Given the description of an element on the screen output the (x, y) to click on. 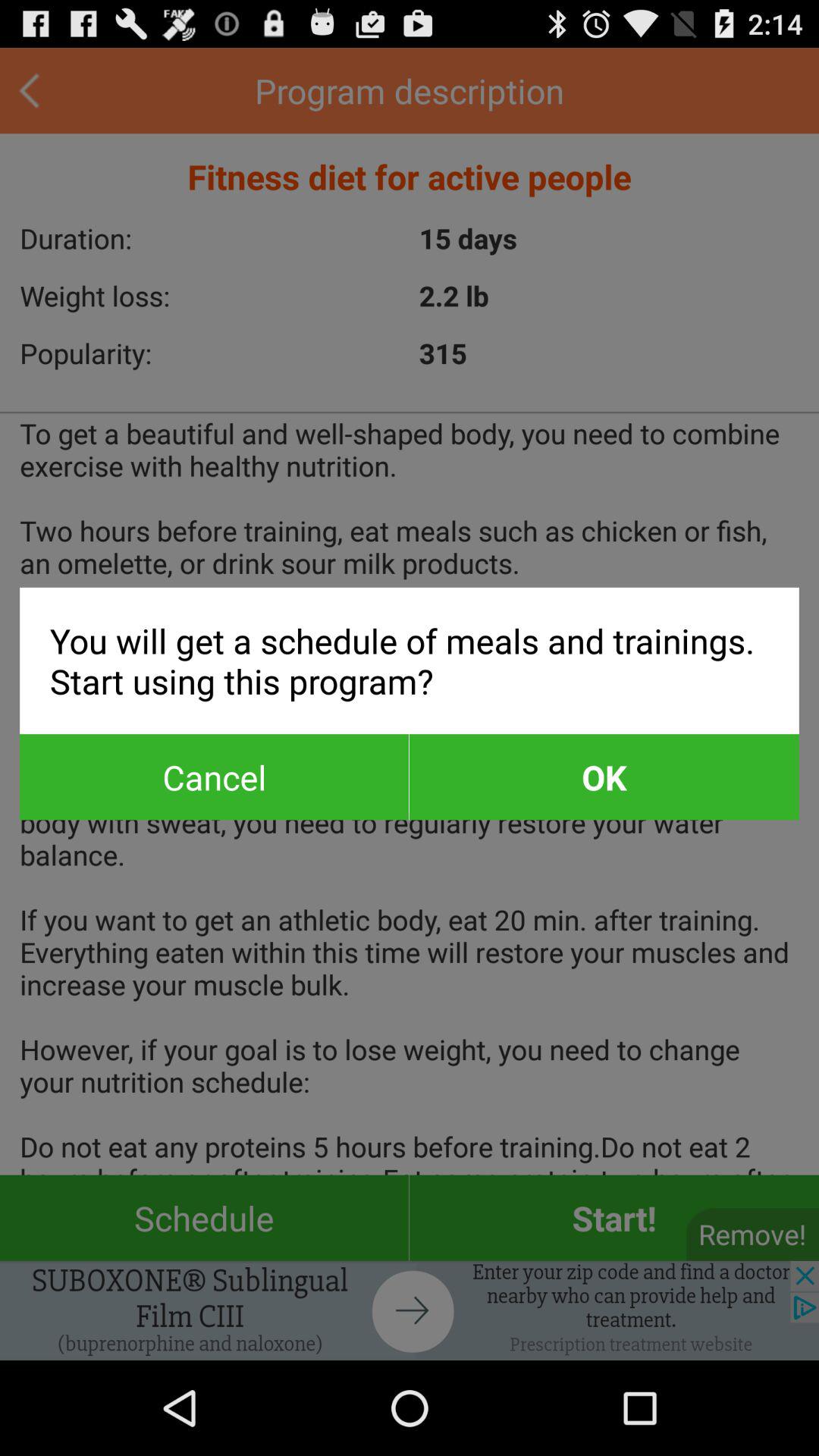
turn on the item to the left of ok (213, 777)
